Given the description of an element on the screen output the (x, y) to click on. 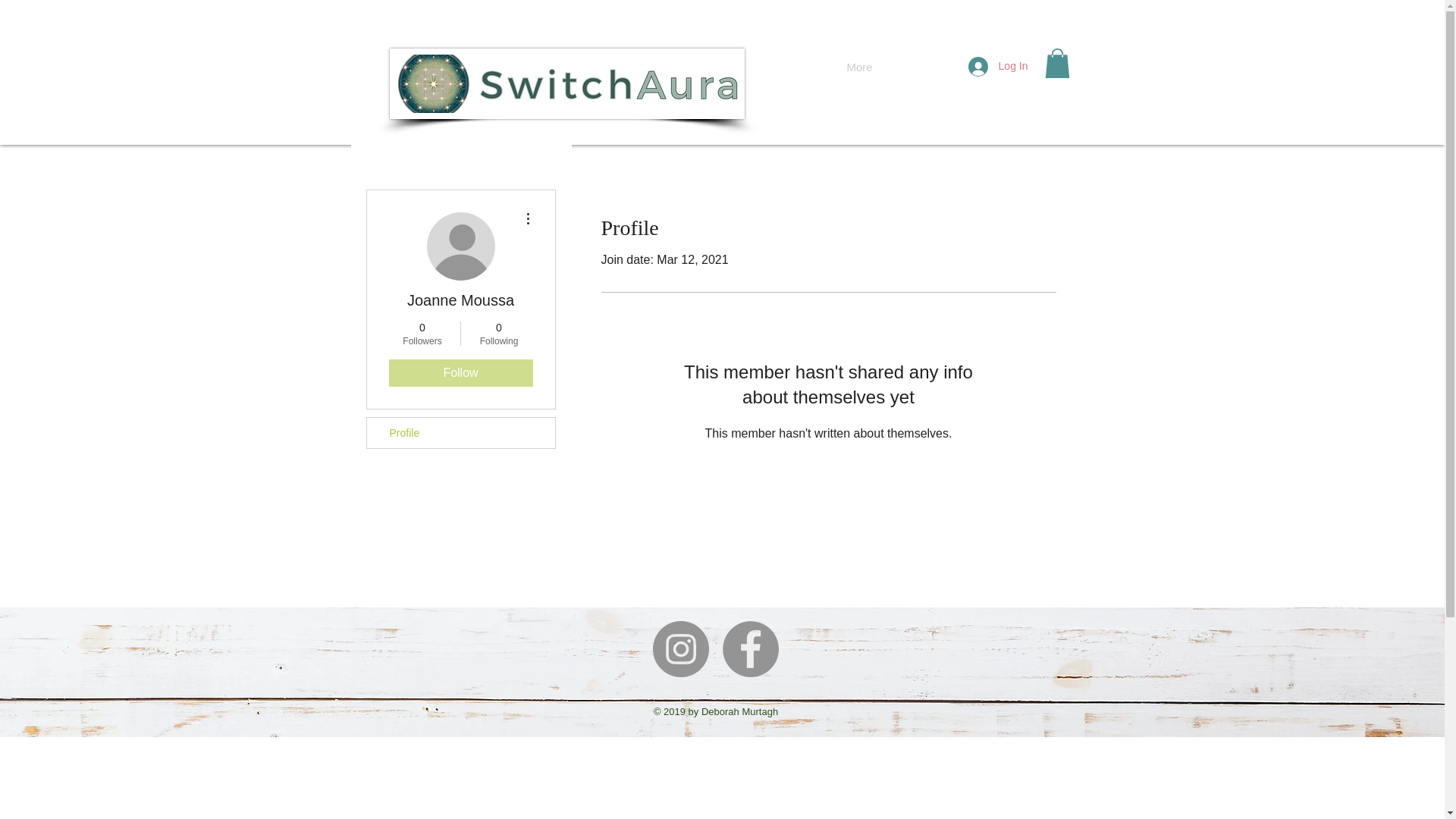
Log In (998, 65)
Follow (460, 372)
Profile (460, 432)
